Given the description of an element on the screen output the (x, y) to click on. 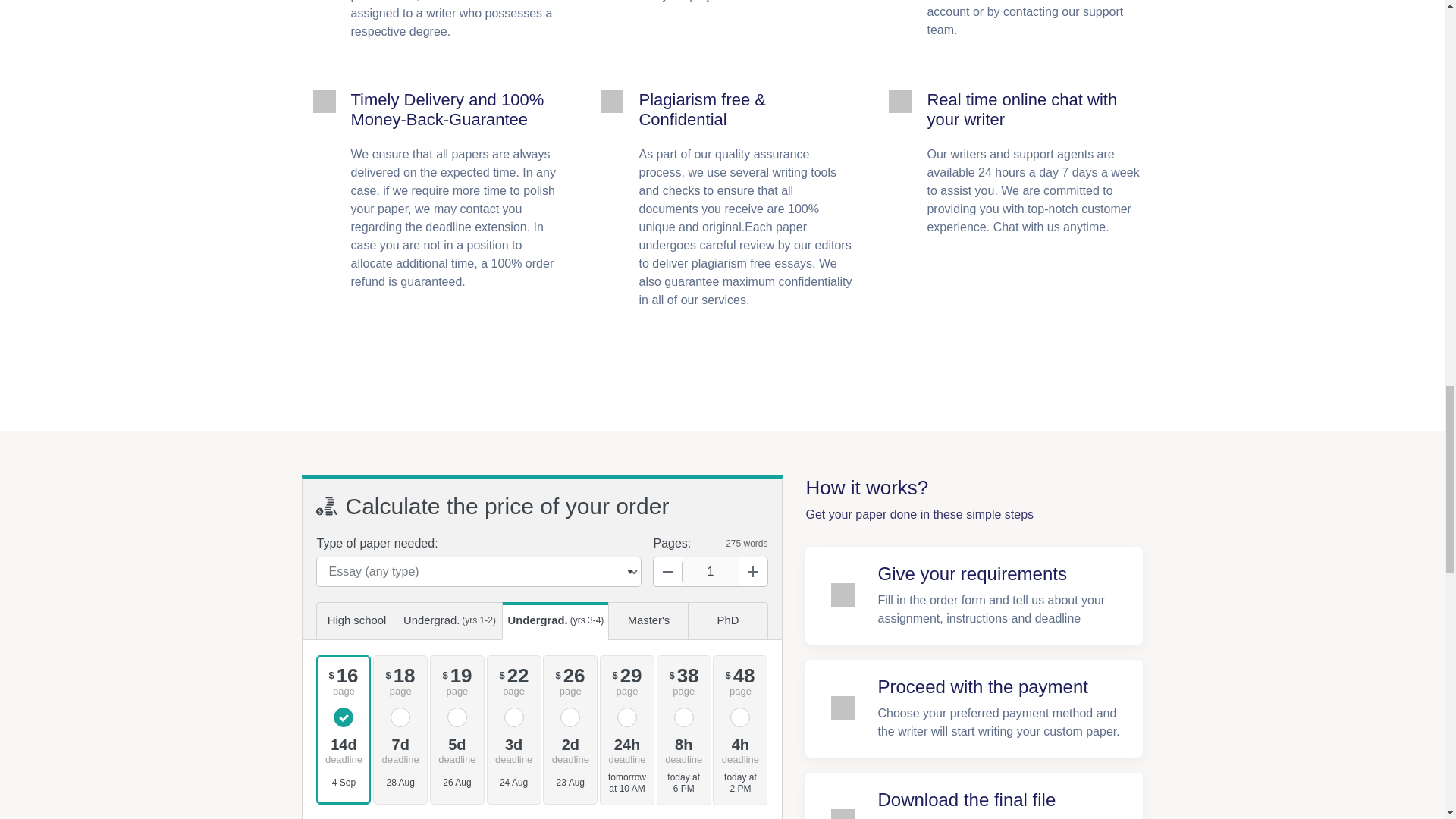
14 days (343, 749)
1 (710, 571)
Decrease (667, 571)
Increase (752, 571)
